Given the description of an element on the screen output the (x, y) to click on. 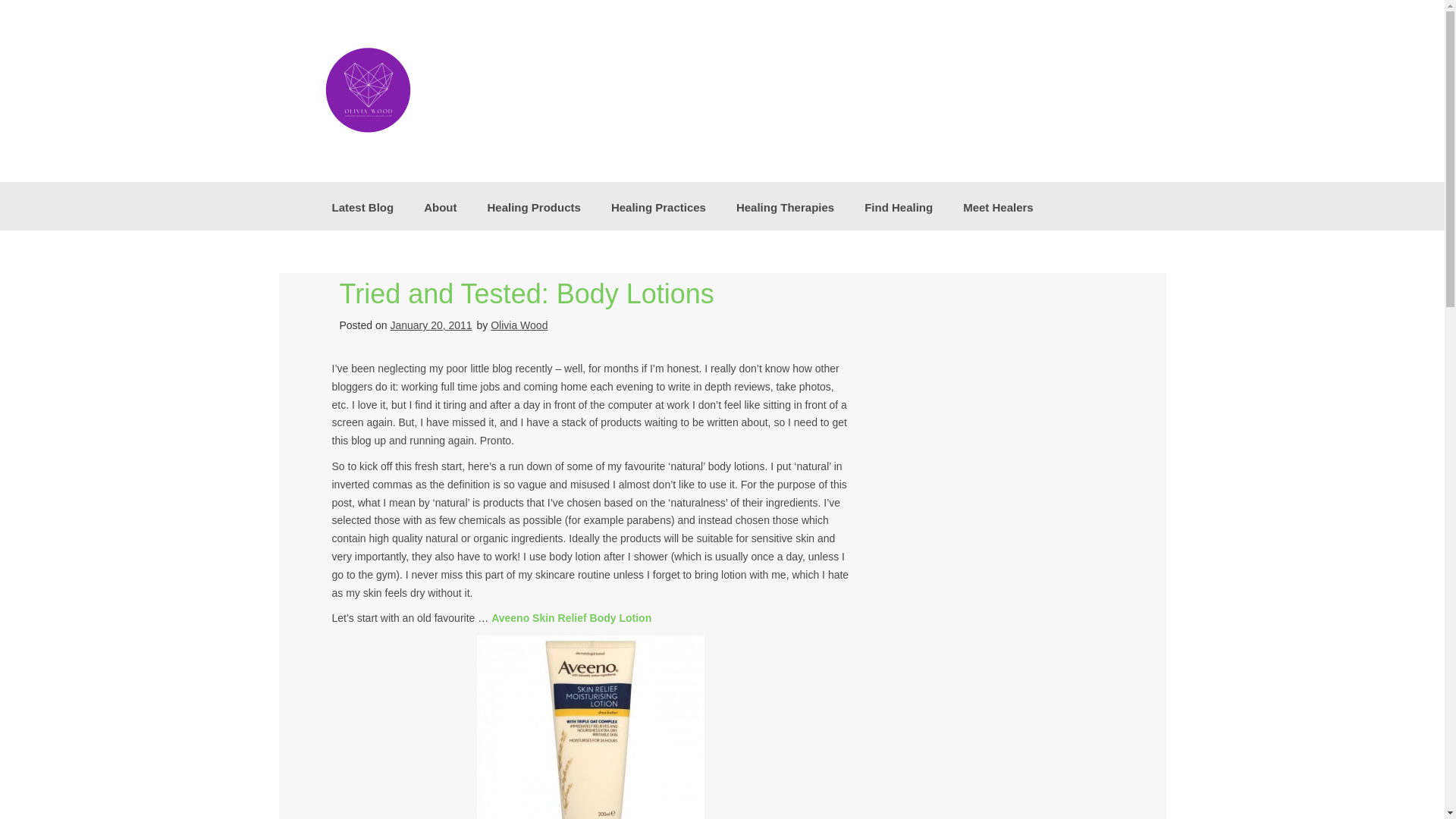
Healing Therapies (784, 205)
Olivia Wood (518, 325)
Tried and Tested: Body Lotions (526, 293)
Healing Practices (657, 205)
Find Healing (897, 205)
Healing Products (533, 205)
About (440, 205)
January 20, 2011 (430, 325)
Meet Healers (997, 205)
aveeno skin relief body lotion (590, 727)
